Given the description of an element on the screen output the (x, y) to click on. 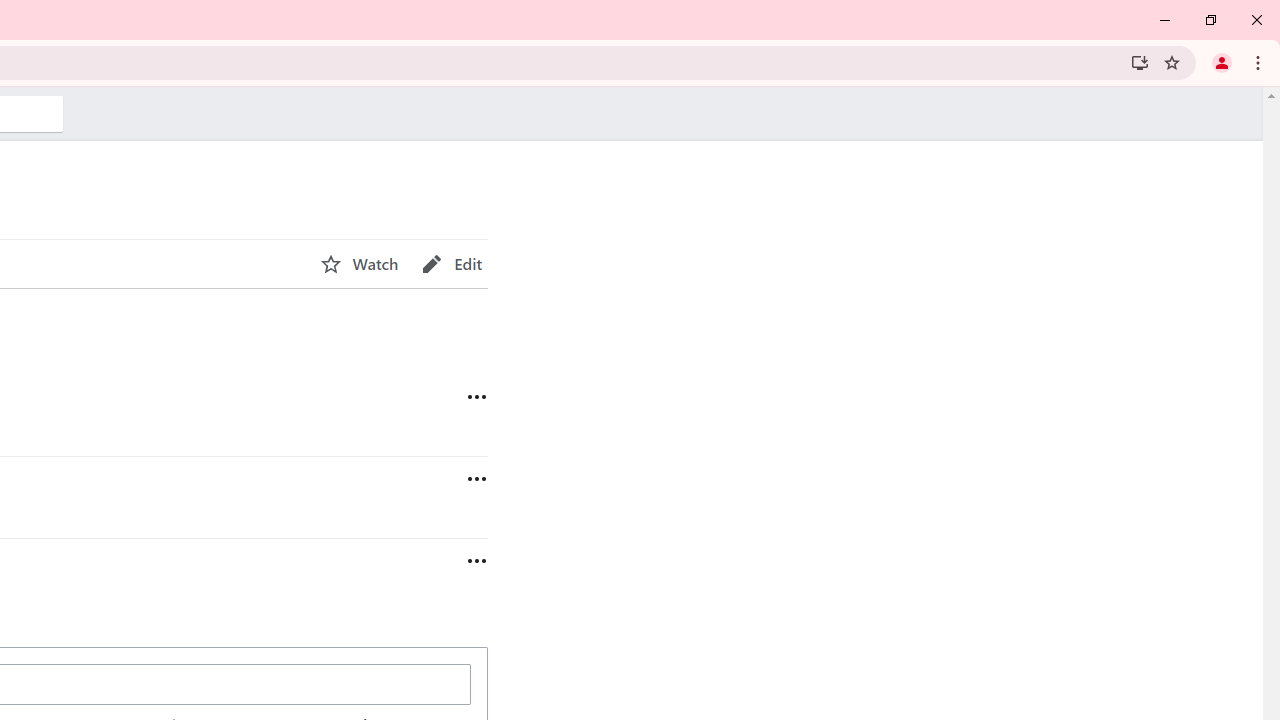
Watch (359, 264)
AutomationID: page-actions-watch (359, 263)
Edit (452, 264)
AutomationID: page-actions-edit (452, 263)
Install Wikipedia (1139, 62)
